Given the description of an element on the screen output the (x, y) to click on. 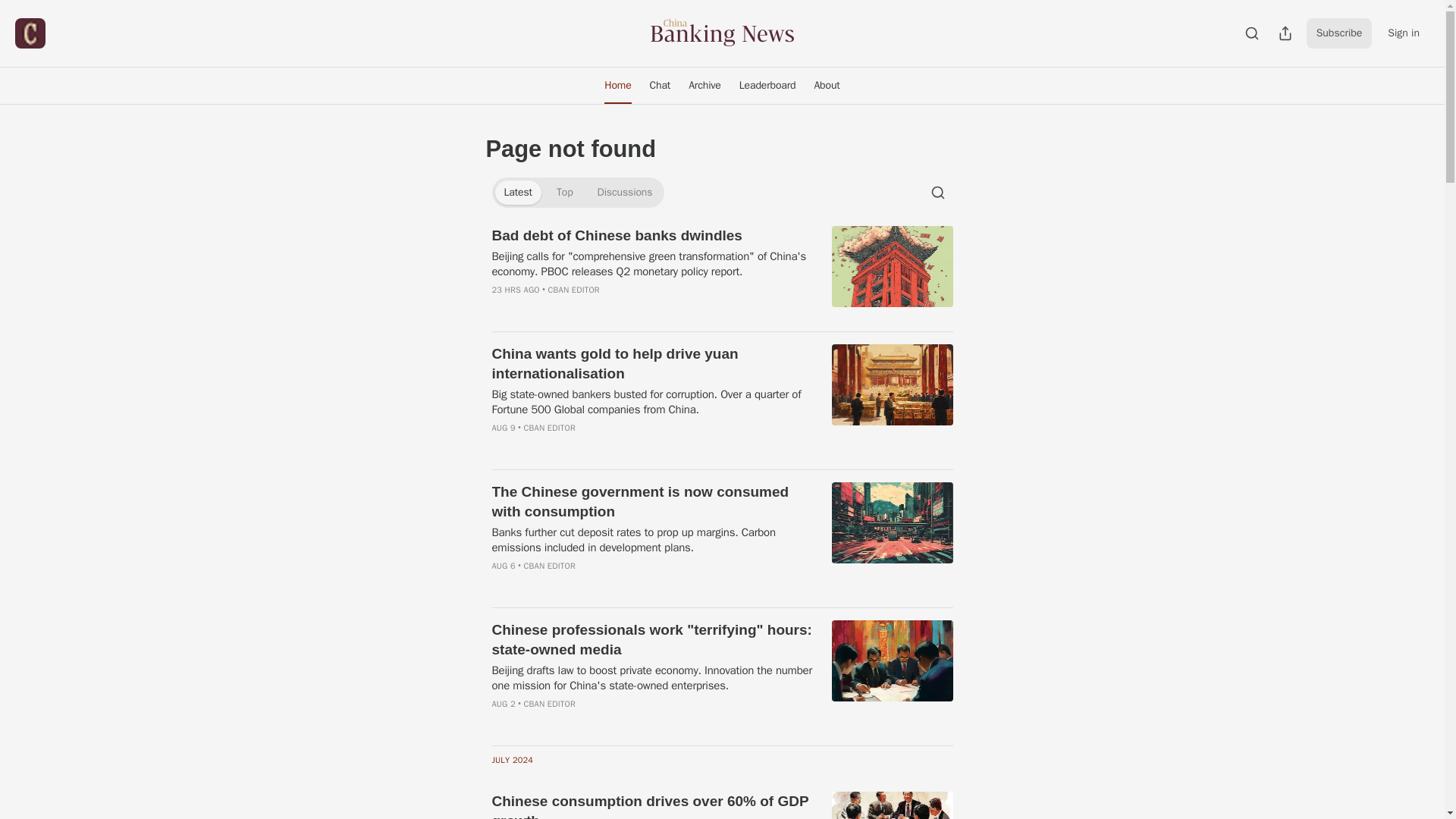
Discussions (625, 192)
About (826, 85)
Home (617, 85)
Leaderboard (767, 85)
The Chinese government is now consumed with consumption (652, 501)
CBAN EDITOR (573, 289)
Archive (704, 85)
Latest (517, 192)
CBAN EDITOR (549, 427)
Top (564, 192)
